Given the description of an element on the screen output the (x, y) to click on. 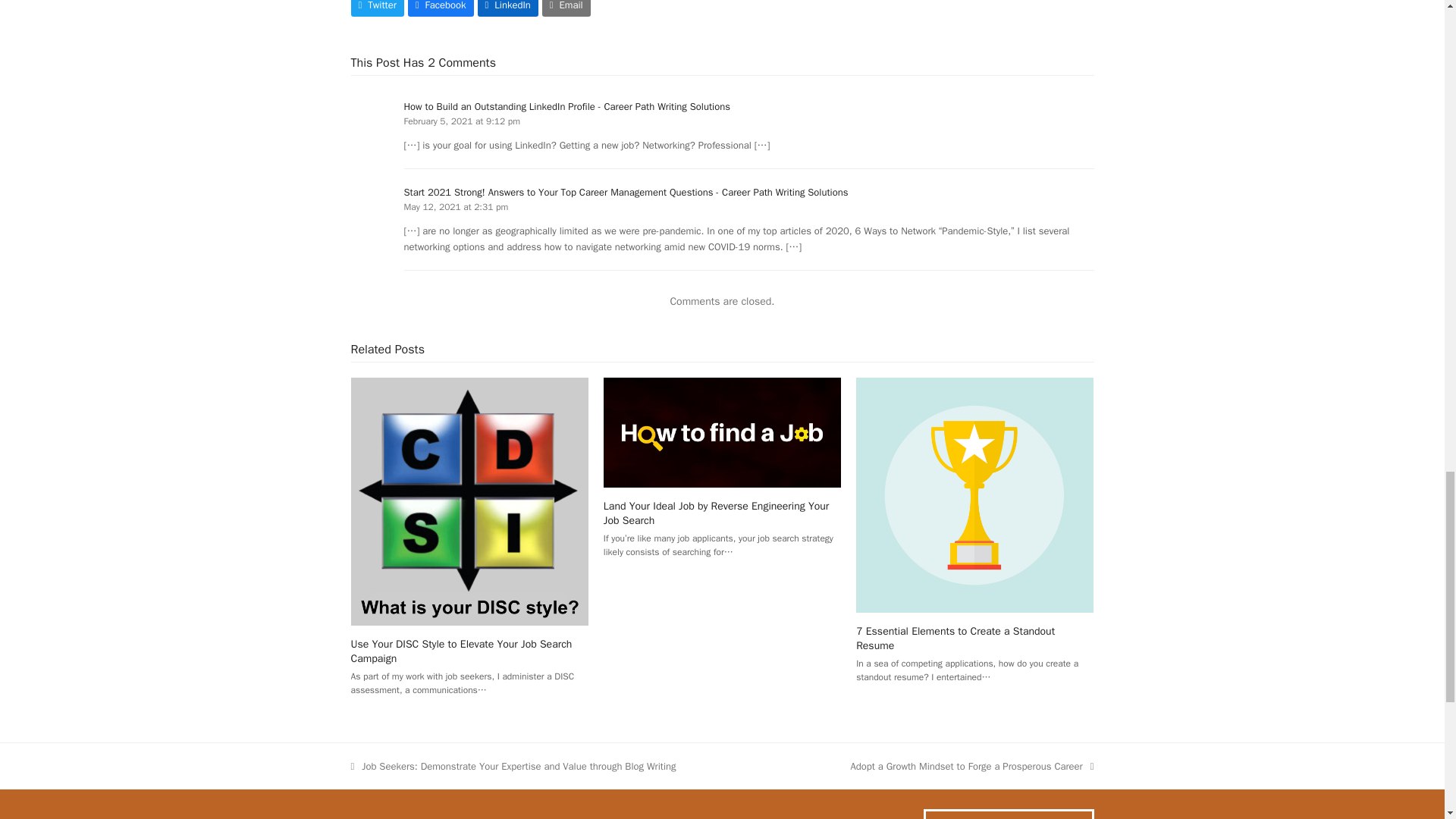
Request a Consultation (1008, 814)
Use Your DISC Style to Elevate Your Job Search Campaign (469, 499)
Land Your Ideal Job by Reverse Engineering Your Job Search (716, 512)
7 Essential Elements to Create a Standout Resume (955, 637)
February 5, 2021 at 9:12 pm (461, 121)
May 12, 2021 at 2:31 pm (455, 206)
Facebook (440, 8)
Land Your Ideal Job by Reverse Engineering Your Job Search (722, 431)
Email (566, 8)
7 Essential Elements to Create a Standout Resume (974, 493)
Twitter (376, 8)
